Given the description of an element on the screen output the (x, y) to click on. 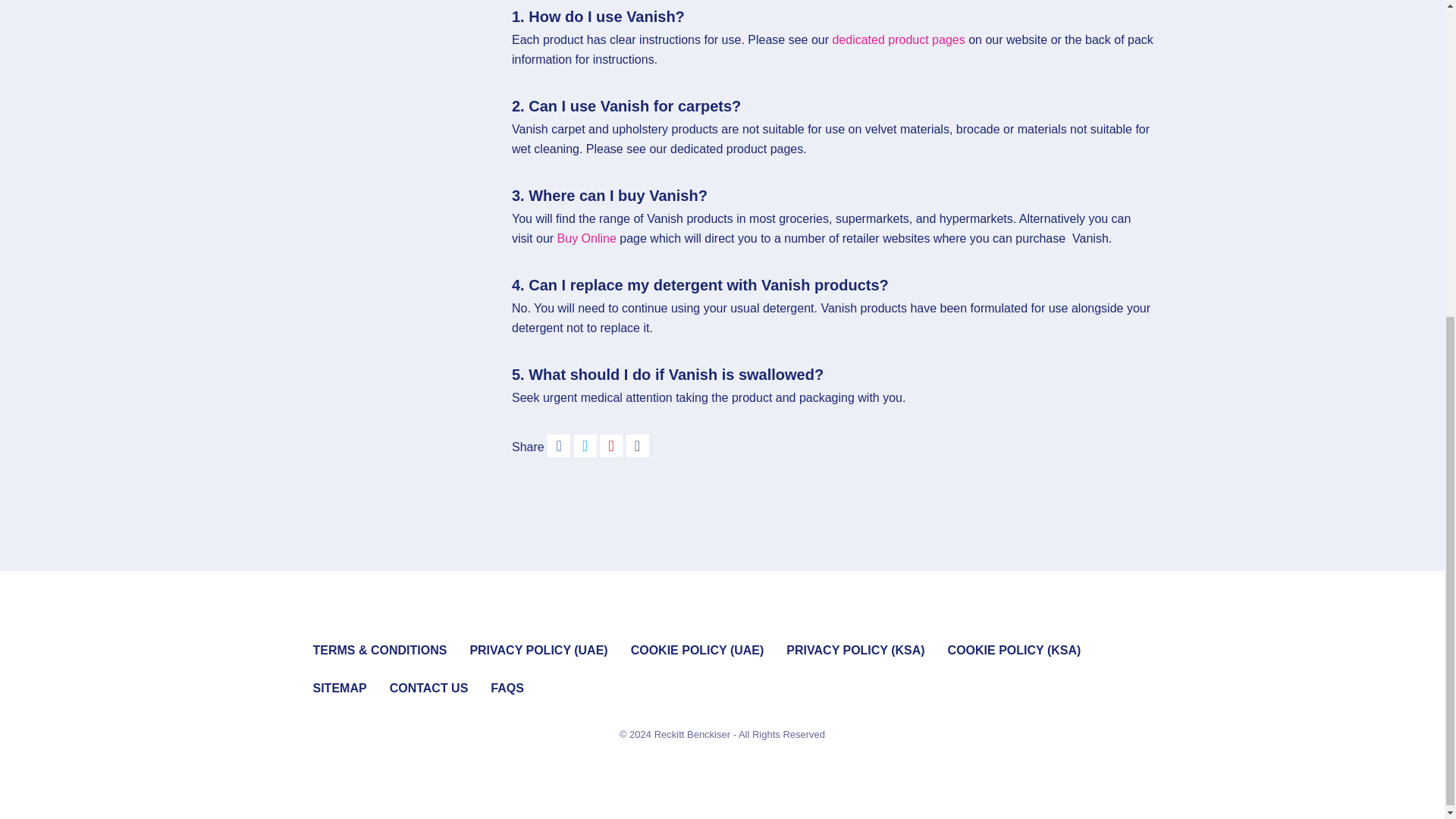
Facebook (560, 446)
Buy Online (586, 237)
Twitter (586, 446)
Pinterest (612, 446)
Tumblr (637, 446)
EN (897, 39)
